Given the description of an element on the screen output the (x, y) to click on. 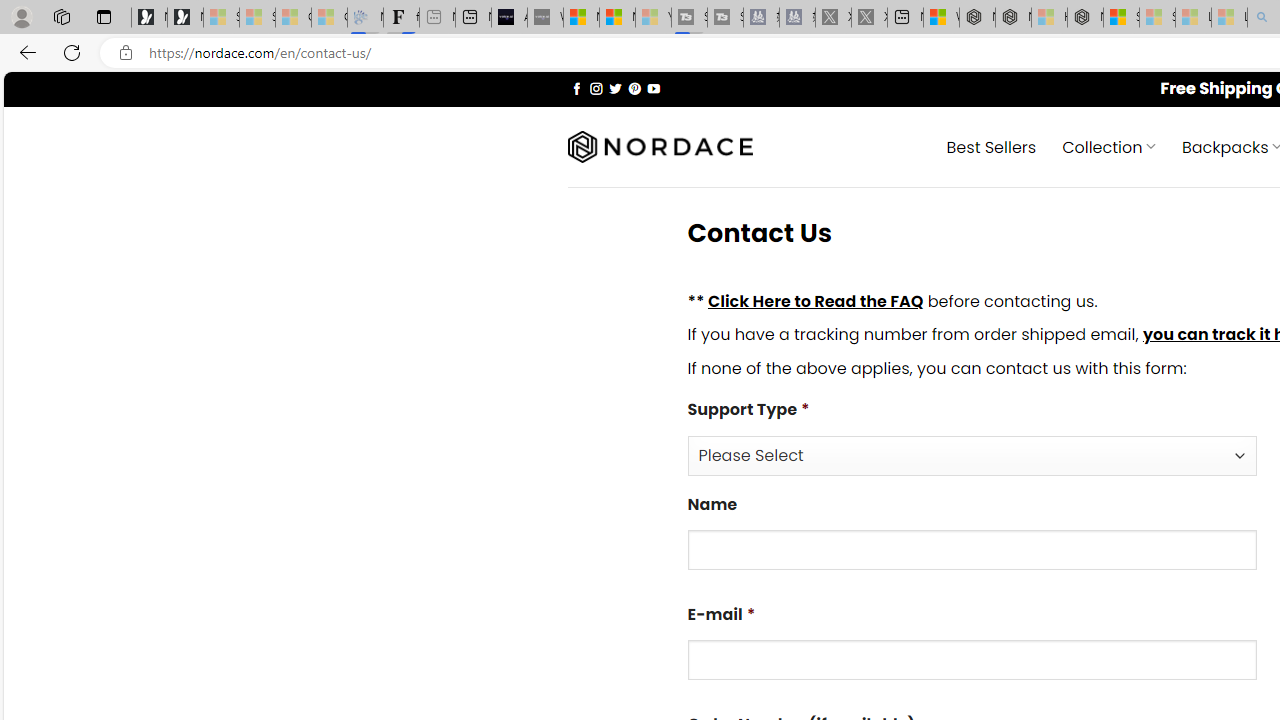
AI Voice Changer for PC and Mac - Voice.ai (509, 17)
E-mail* (971, 660)
Nordace - Nordace Siena Is Not An Ordinary Backpack (1085, 17)
Click Here to Read the FAQ (815, 300)
Name (971, 549)
Support Type* (971, 454)
  Best Sellers (990, 146)
